Given the description of an element on the screen output the (x, y) to click on. 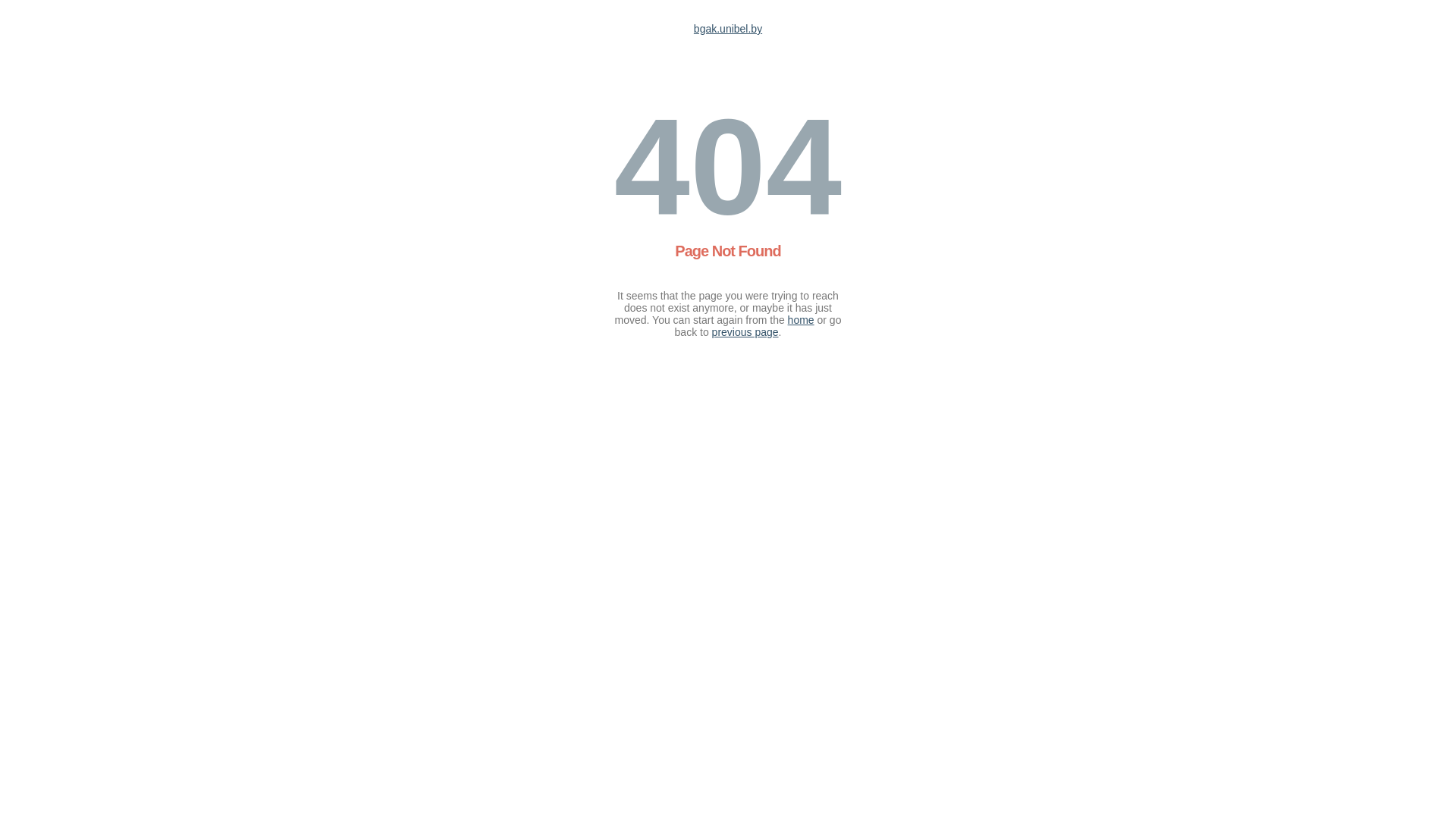
previous page Element type: text (745, 332)
bgak.unibel.by Element type: text (727, 28)
home Element type: text (800, 319)
